Given the description of an element on the screen output the (x, y) to click on. 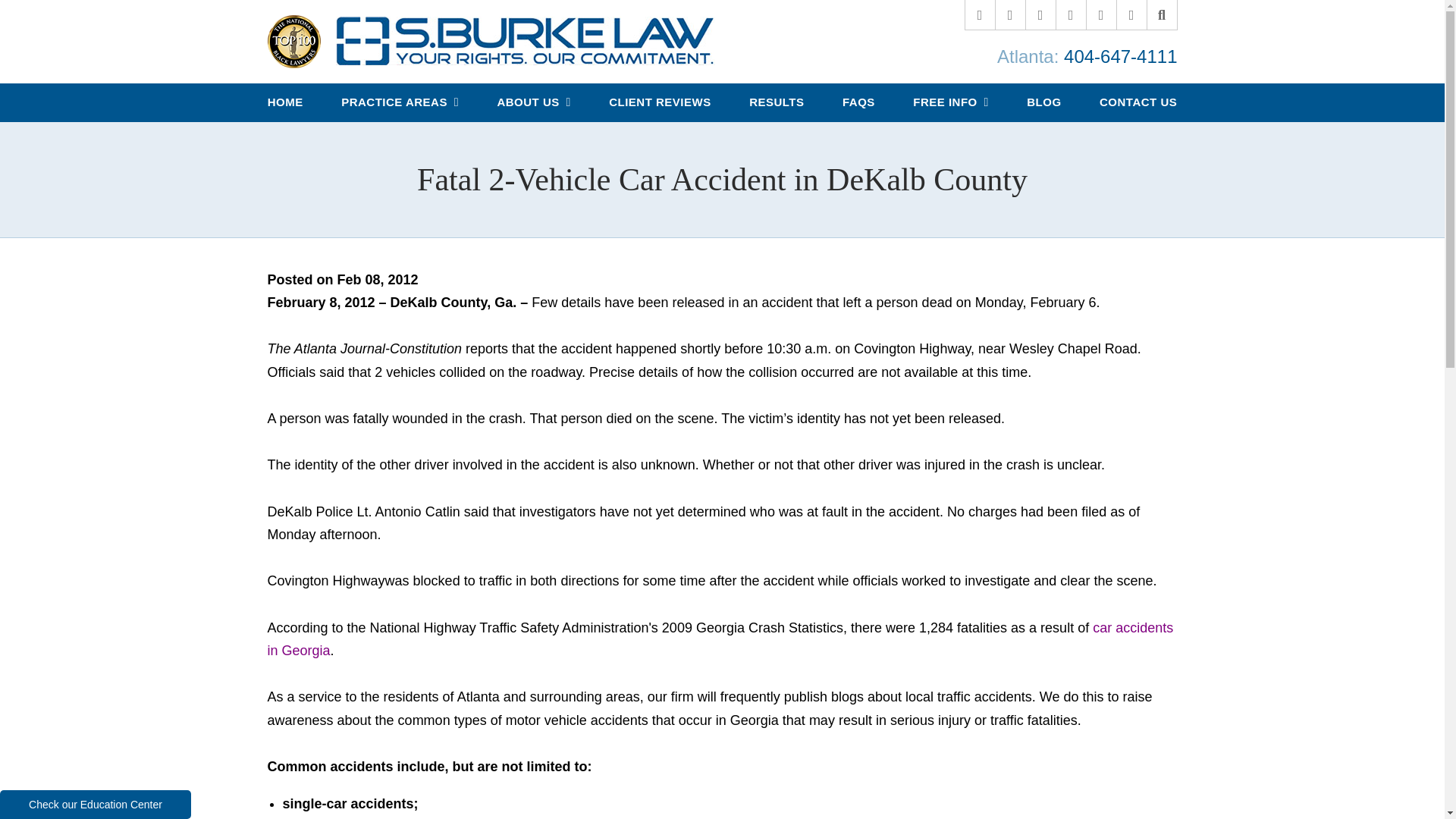
Search (1161, 15)
PRACTICE AREAS (399, 102)
HOME (284, 102)
ABOUT US (533, 102)
CLIENT REVIEWS (659, 102)
